Given the description of an element on the screen output the (x, y) to click on. 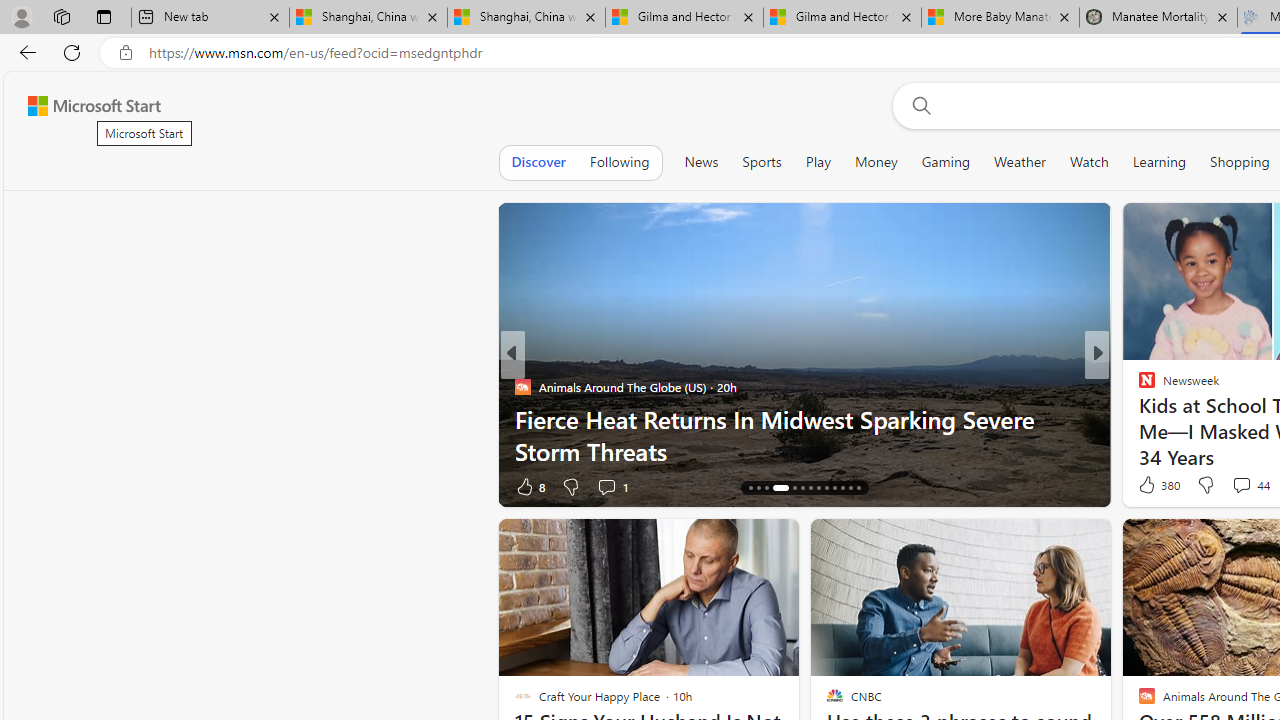
AutomationID: tab-21 (818, 487)
152 Like (1151, 486)
AutomationID: tab-16 (765, 487)
616 Like (1151, 486)
148 Like (1151, 486)
AutomationID: tab-20 (810, 487)
380 Like (1157, 484)
AutomationID: tab-26 (857, 487)
